Given the description of an element on the screen output the (x, y) to click on. 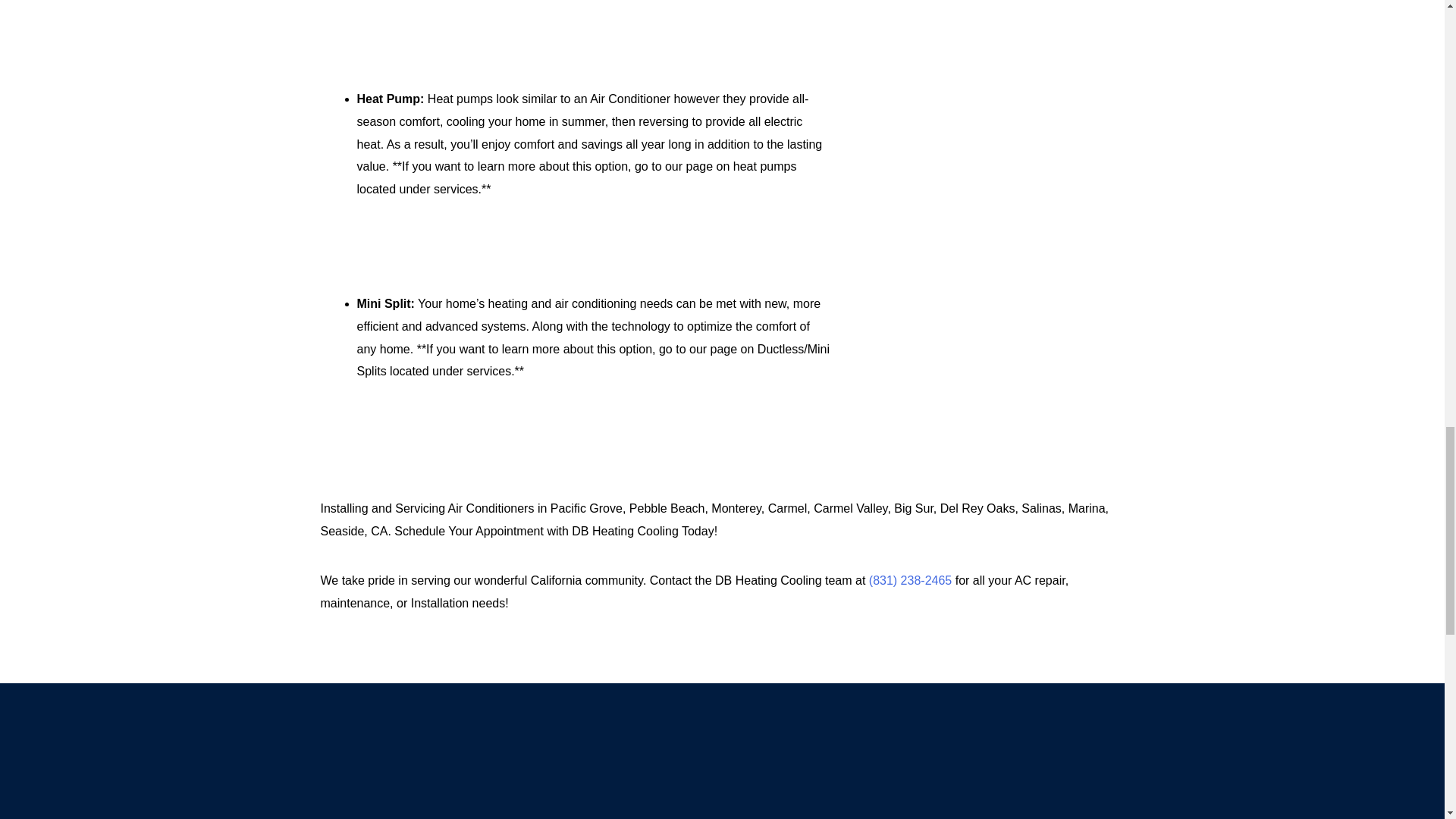
Mini Split System DB (993, 379)
Traditional Bryant AC Unit DB (993, 28)
Bryant Heat pump DB (993, 174)
